Given the description of an element on the screen output the (x, y) to click on. 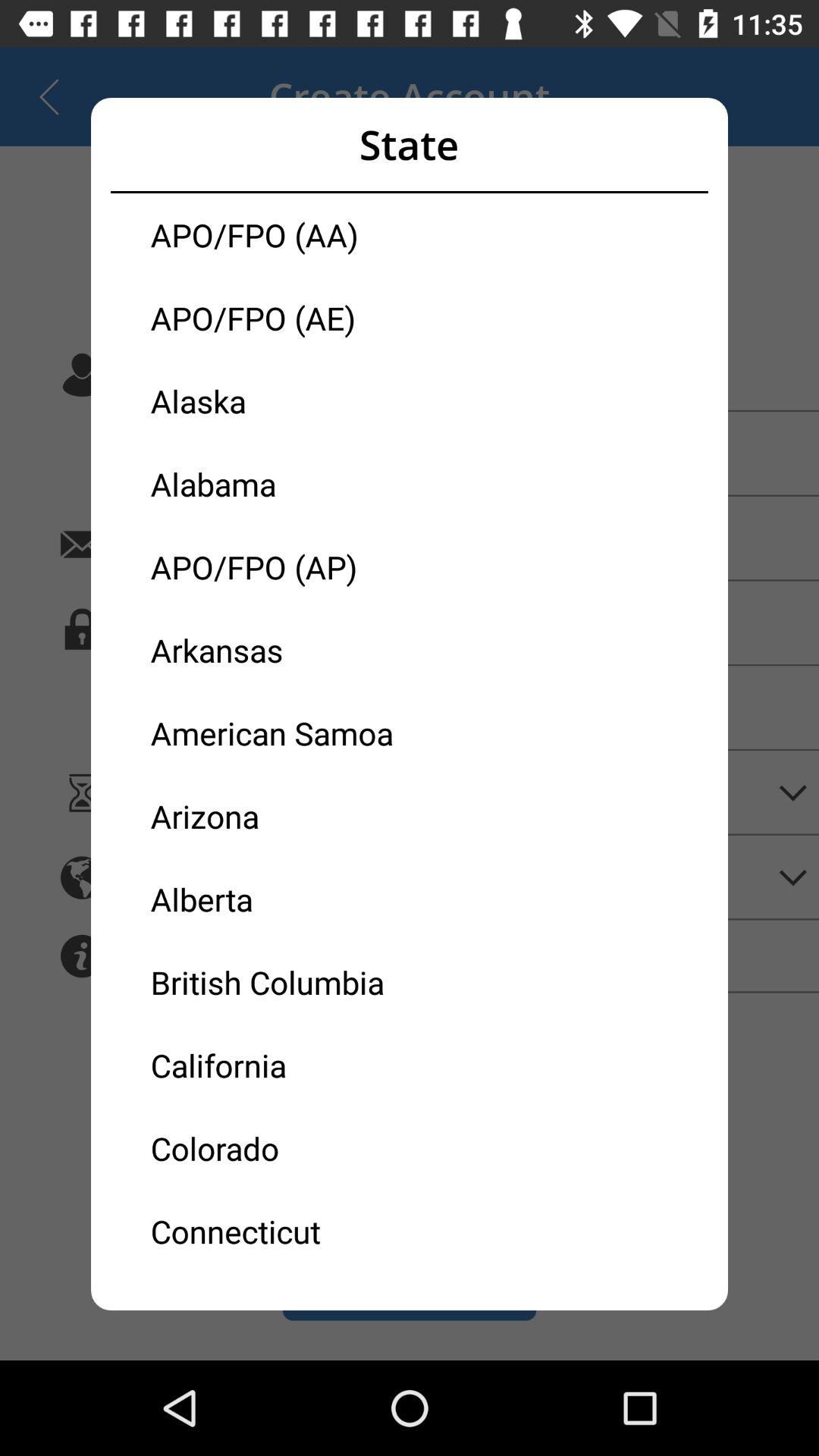
swipe to the american samoa (279, 732)
